Given the description of an element on the screen output the (x, y) to click on. 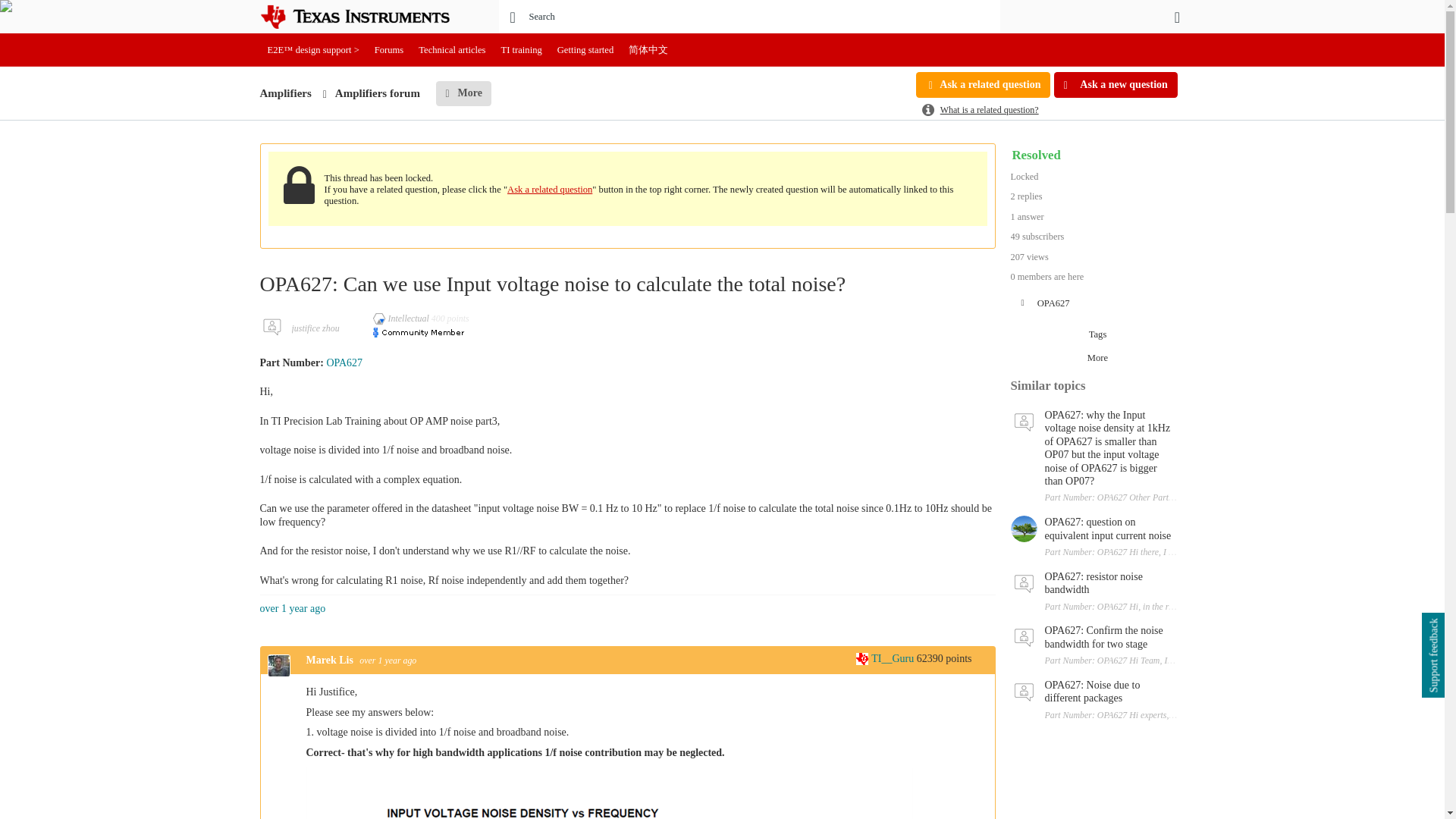
Getting started (585, 49)
Forums (389, 49)
Join or sign in (1177, 17)
Technical articles (451, 49)
Click here for explanation of levels (401, 317)
User (1177, 17)
TI training (521, 49)
Home (365, 16)
Click here for explanation of levels (886, 658)
Link to Product Folder (344, 362)
